Given the description of an element on the screen output the (x, y) to click on. 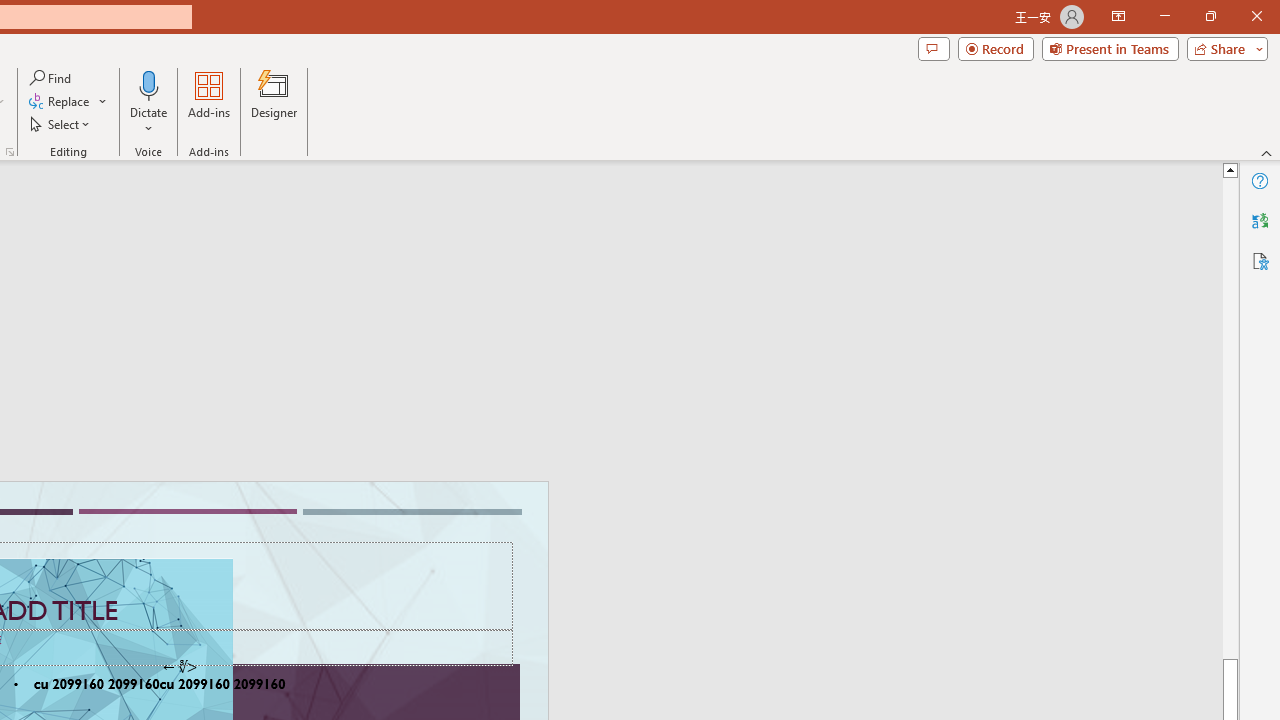
Restore Down (1210, 16)
Record (995, 48)
Designer (274, 102)
Find... (51, 78)
Share (1223, 48)
Present in Teams (1109, 48)
Page up (1230, 417)
Dictate (149, 84)
Minimize (1164, 16)
Format Object... (9, 151)
More Options (149, 121)
